Given the description of an element on the screen output the (x, y) to click on. 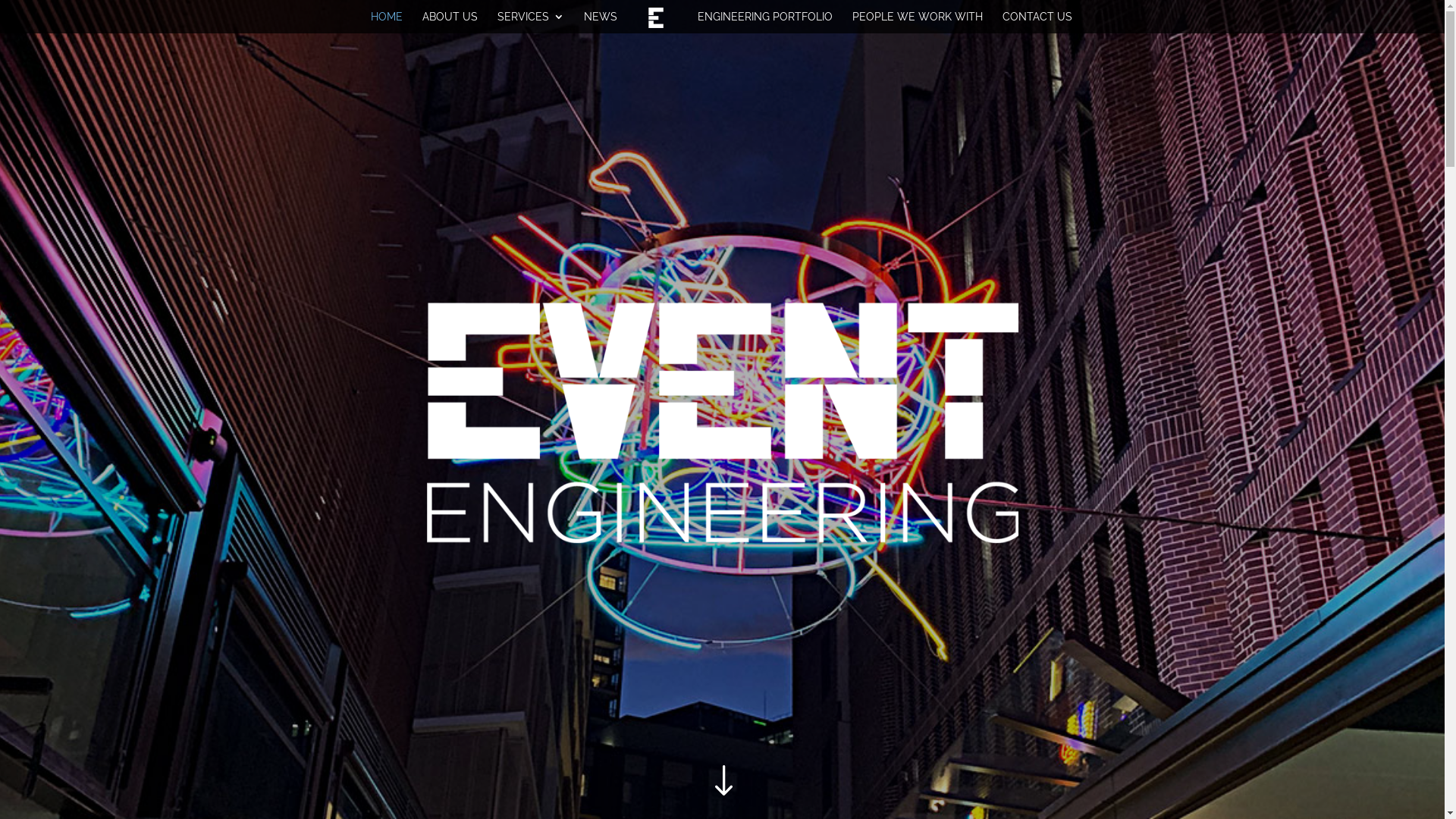
ABOUT US Element type: text (449, 22)
SERVICES Element type: text (530, 22)
PEOPLE WE WORK WITH Element type: text (917, 22)
CONTACT US Element type: text (1037, 22)
" Element type: text (721, 781)
NEWS Element type: text (600, 22)
HOME Element type: text (386, 22)
ENGINEERING PORTFOLIO Element type: text (764, 22)
